Given the description of an element on the screen output the (x, y) to click on. 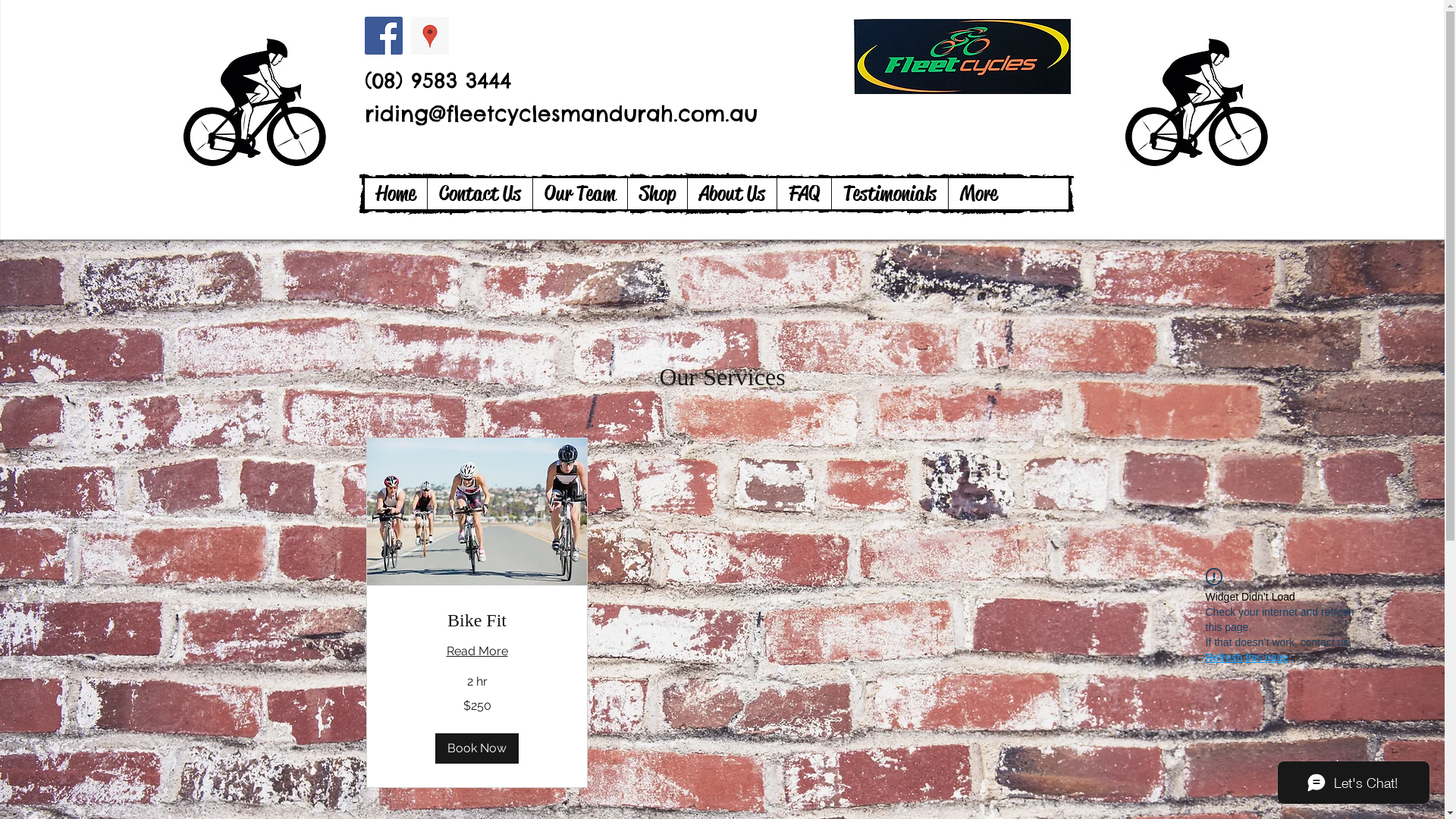
About Us Element type: text (731, 193)
Read More Element type: text (476, 651)
Shop Element type: text (656, 193)
Contact Us Element type: text (478, 193)
Book Now Element type: text (476, 748)
Testimonials Element type: text (889, 193)
FAQ Element type: text (803, 193)
Bike Fit Element type: text (475, 620)
Our Team Element type: text (579, 193)
Home Element type: text (395, 193)
riding@fleetcyclesmandurah.com.au Element type: text (560, 113)
Refresh this page Element type: text (1247, 657)
